Given the description of an element on the screen output the (x, y) to click on. 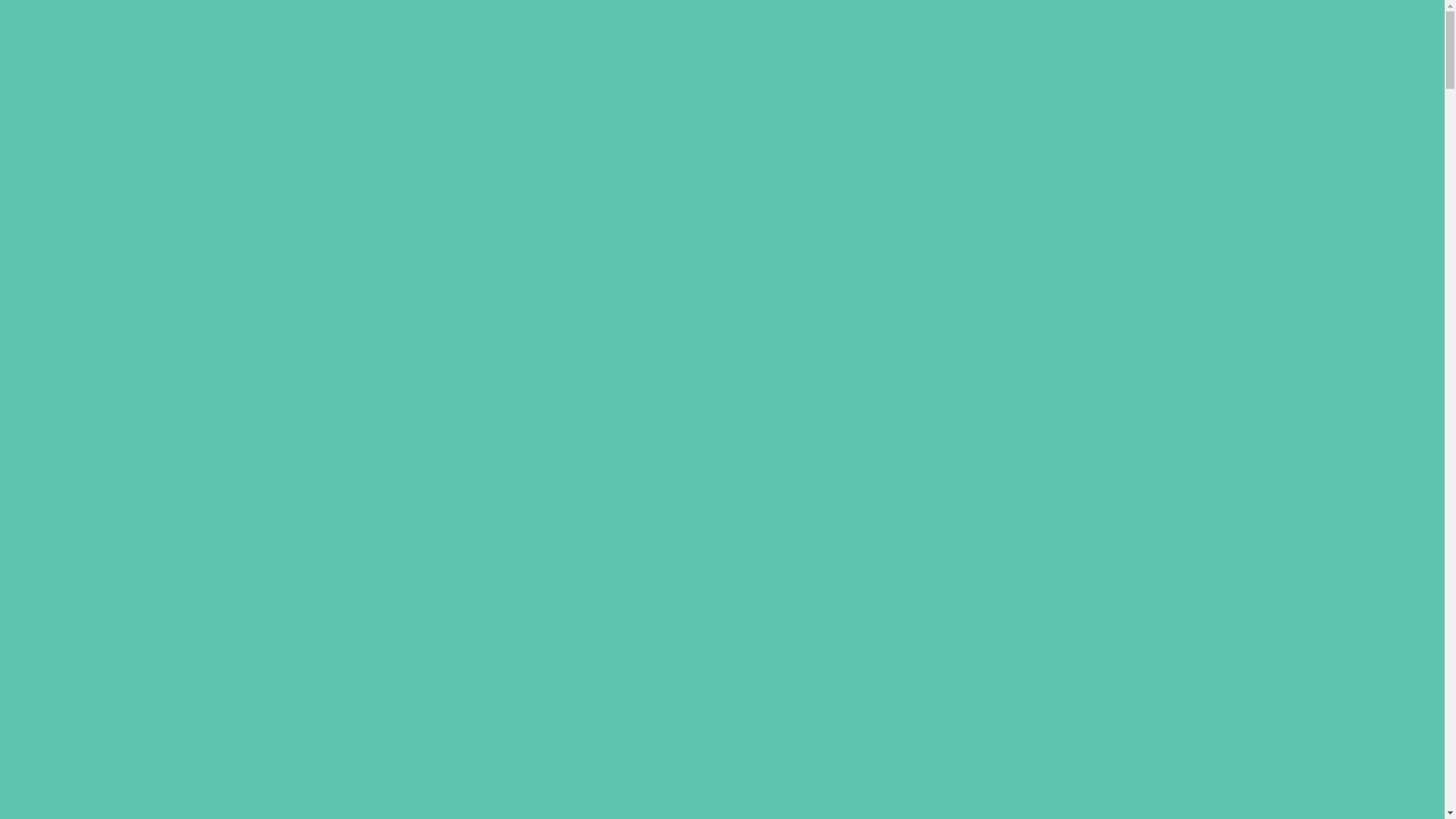
Our Clients Element type: text (1240, 46)
DOWNLOAD BROCHURE Element type: text (463, 677)
0412 929 565 Element type: text (1353, 20)
LEARN MORE Element type: text (220, 677)
News Element type: text (1291, 46)
Case Studies Element type: text (1174, 46)
Who We Are Element type: text (1033, 46)
What We Do Element type: text (1103, 46)
VIEW SHOWREEL Element type: text (334, 677)
CONTACT Element type: text (1350, 47)
